Given the description of an element on the screen output the (x, y) to click on. 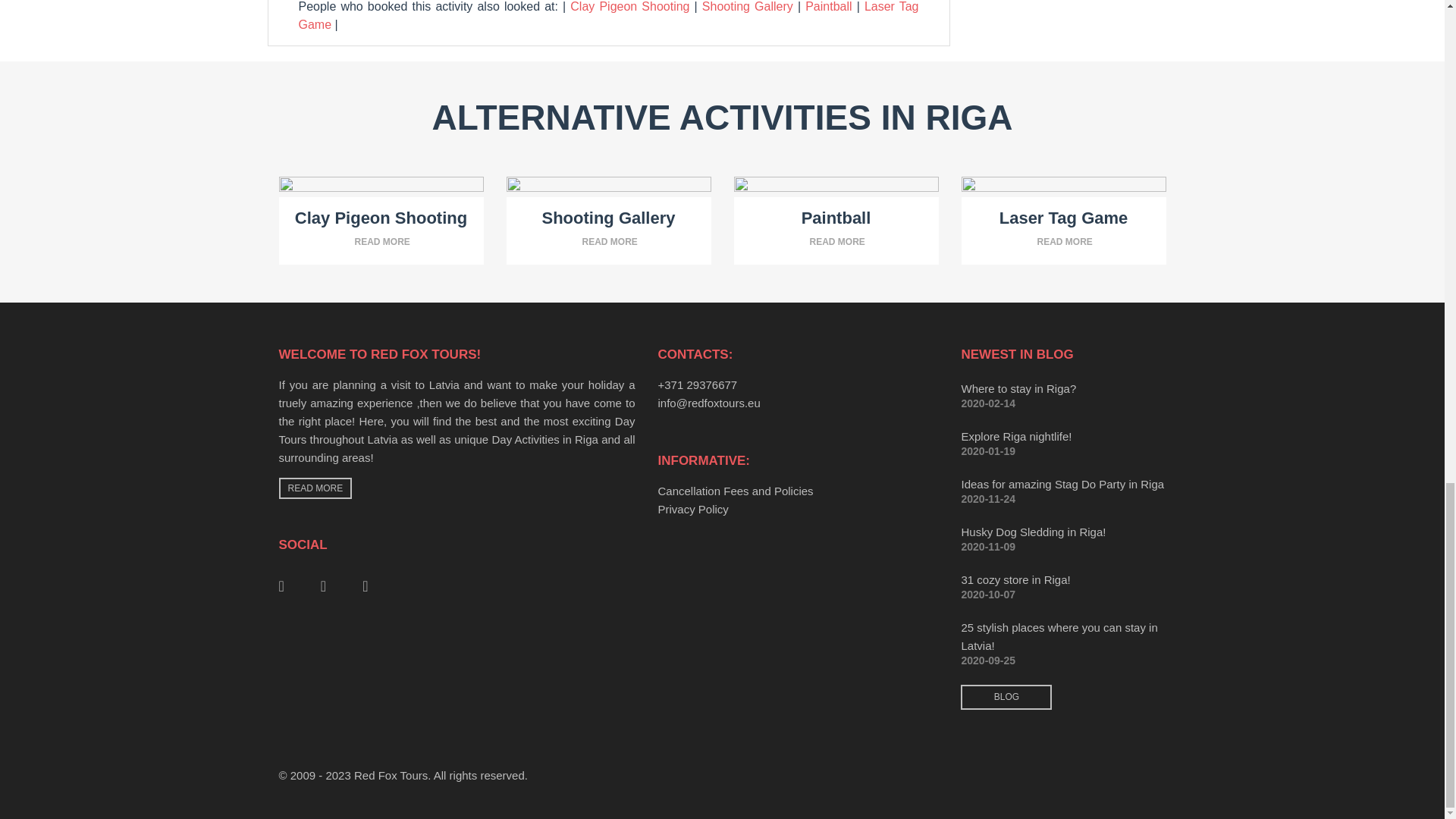
Shooting Gallery (747, 6)
READ MORE (380, 247)
READ MORE (609, 247)
READ MORE (836, 247)
Paintball (828, 6)
Laser Tag Game (608, 15)
Clay Pigeon Shooting (629, 6)
